Given the description of an element on the screen output the (x, y) to click on. 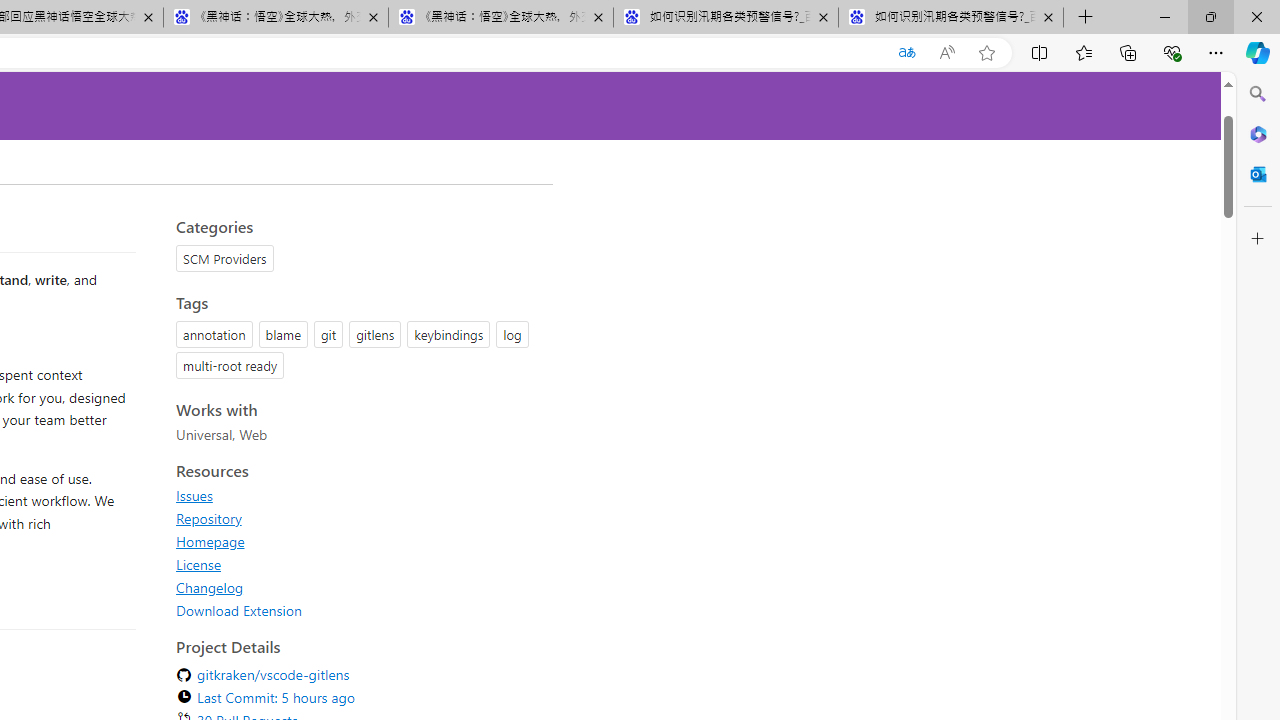
License (358, 564)
